Given the description of an element on the screen output the (x, y) to click on. 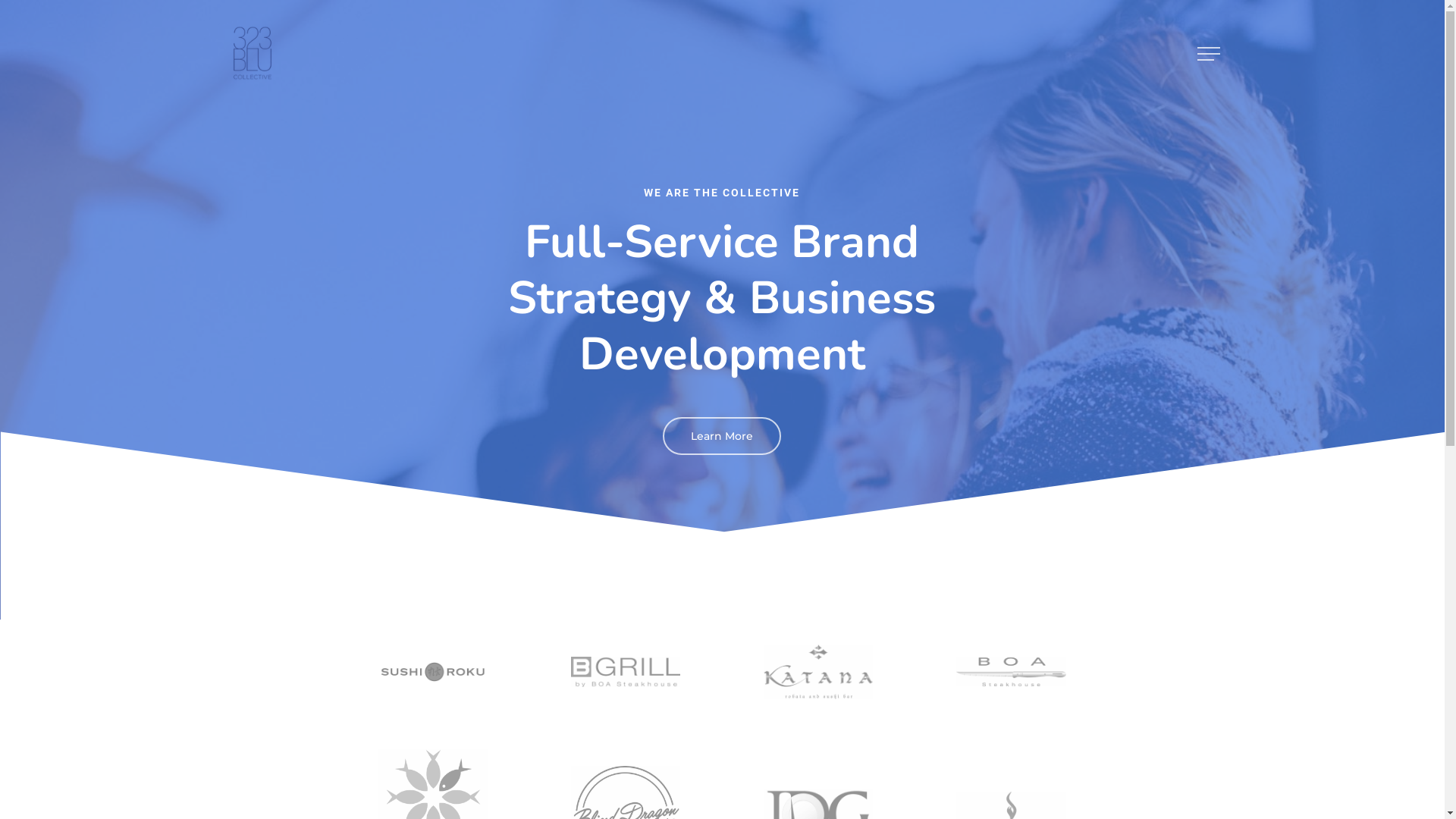
Learn More Element type: text (721, 436)
